Given the description of an element on the screen output the (x, y) to click on. 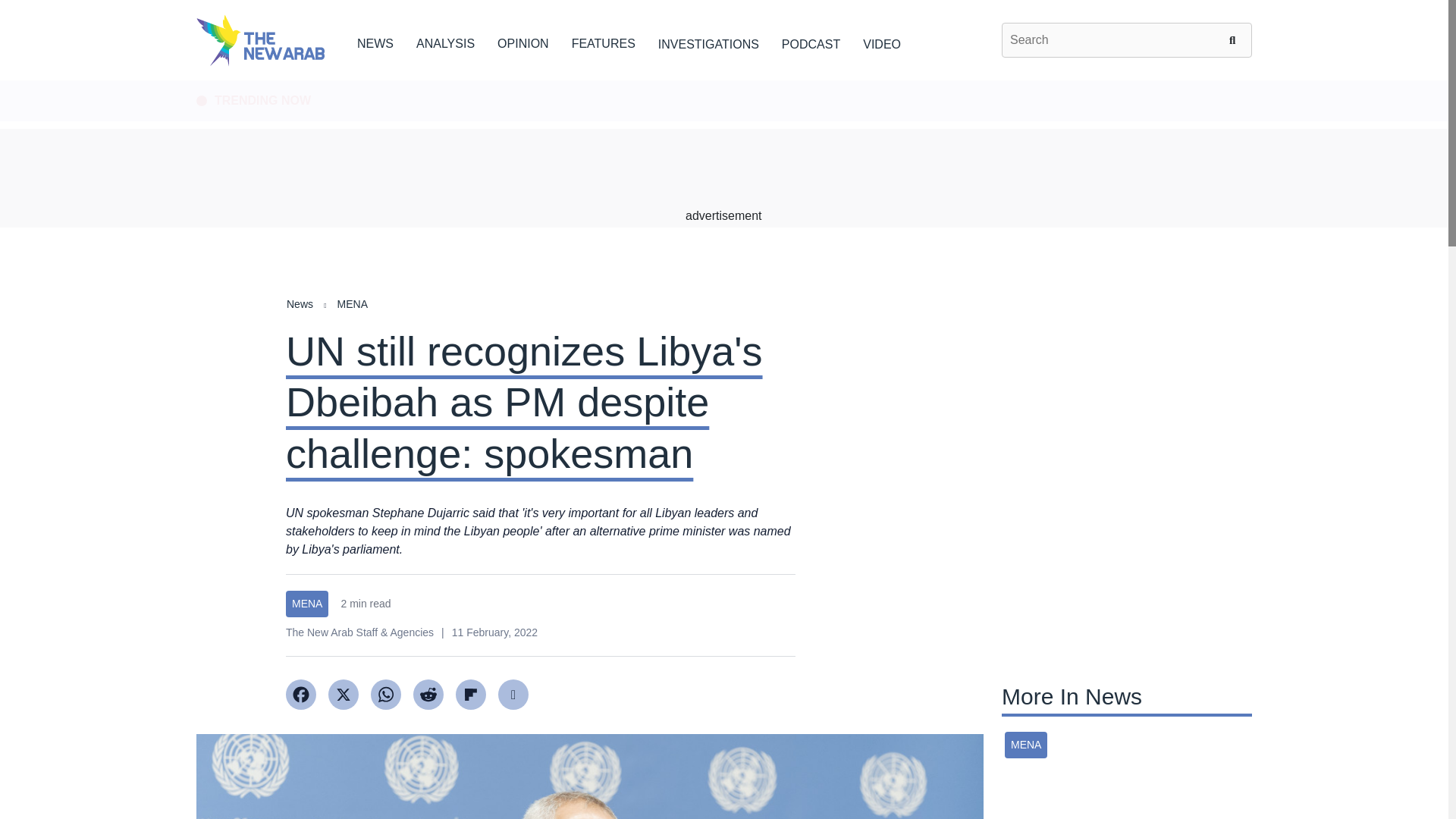
OPINION (523, 41)
NEWS (375, 41)
Search (1234, 39)
Skip to main content (724, 81)
ANALYSIS (445, 41)
